Given the description of an element on the screen output the (x, y) to click on. 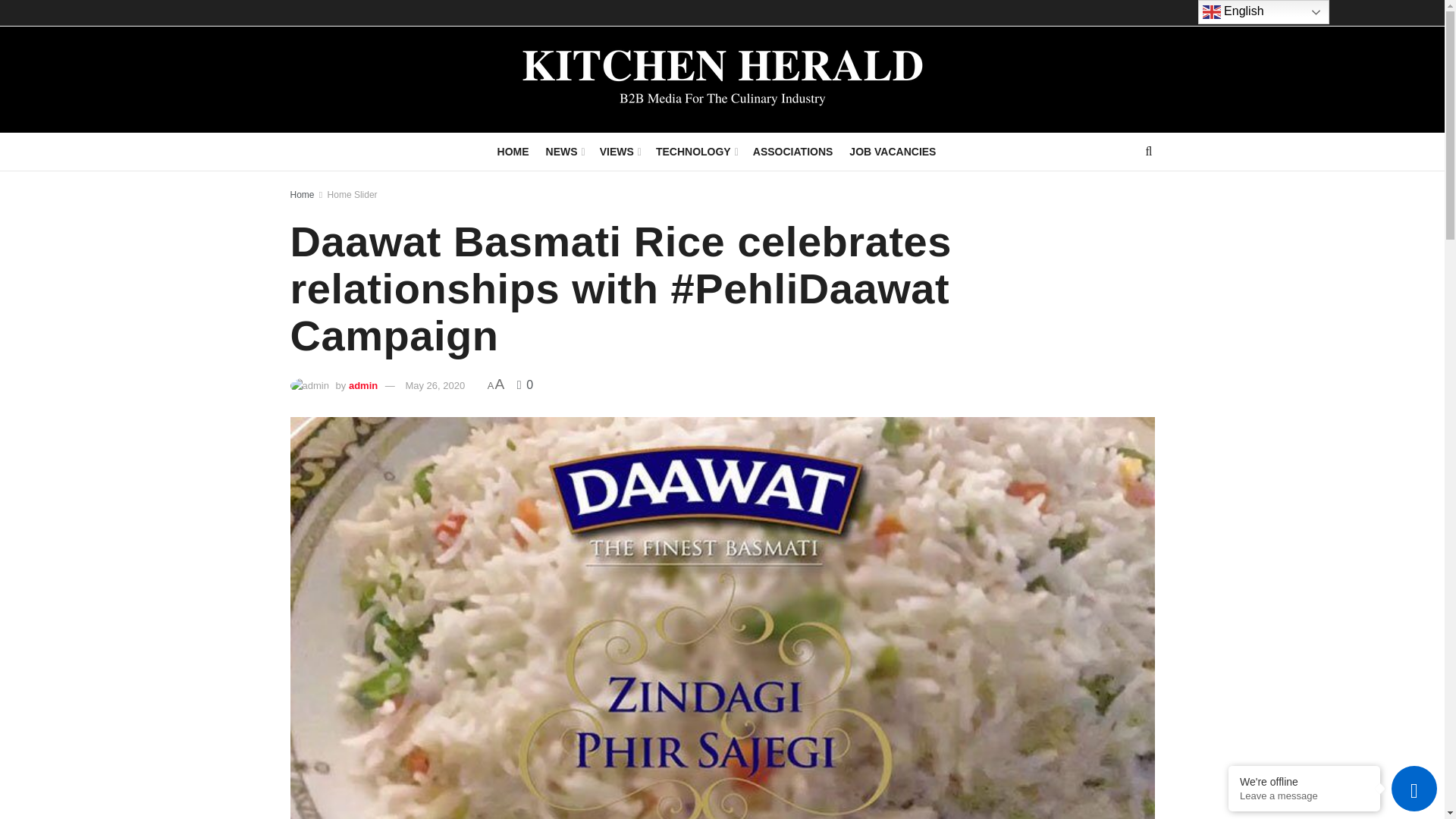
JOB VACANCIES (892, 151)
NEWS (564, 151)
TECHNOLOGY (696, 151)
ASSOCIATIONS (792, 151)
VIEWS (619, 151)
